Given the description of an element on the screen output the (x, y) to click on. 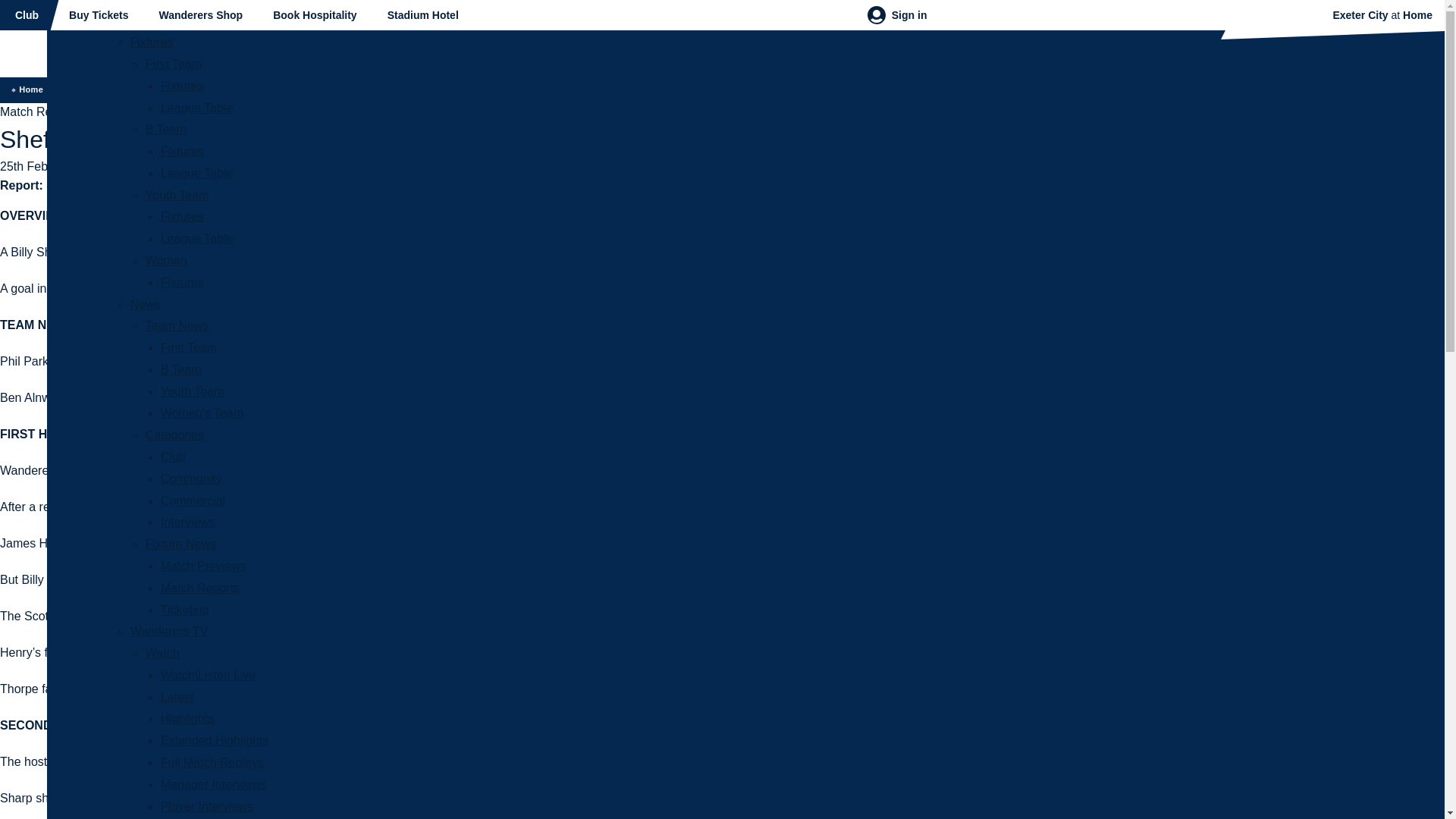
Commercial (192, 500)
Fixtures (181, 85)
Book Hospitality (314, 15)
First Team (173, 63)
Fixtures (181, 85)
League Table (196, 237)
Fixtures (181, 215)
Categories (174, 434)
News (145, 304)
League Table (196, 237)
